Given the description of an element on the screen output the (x, y) to click on. 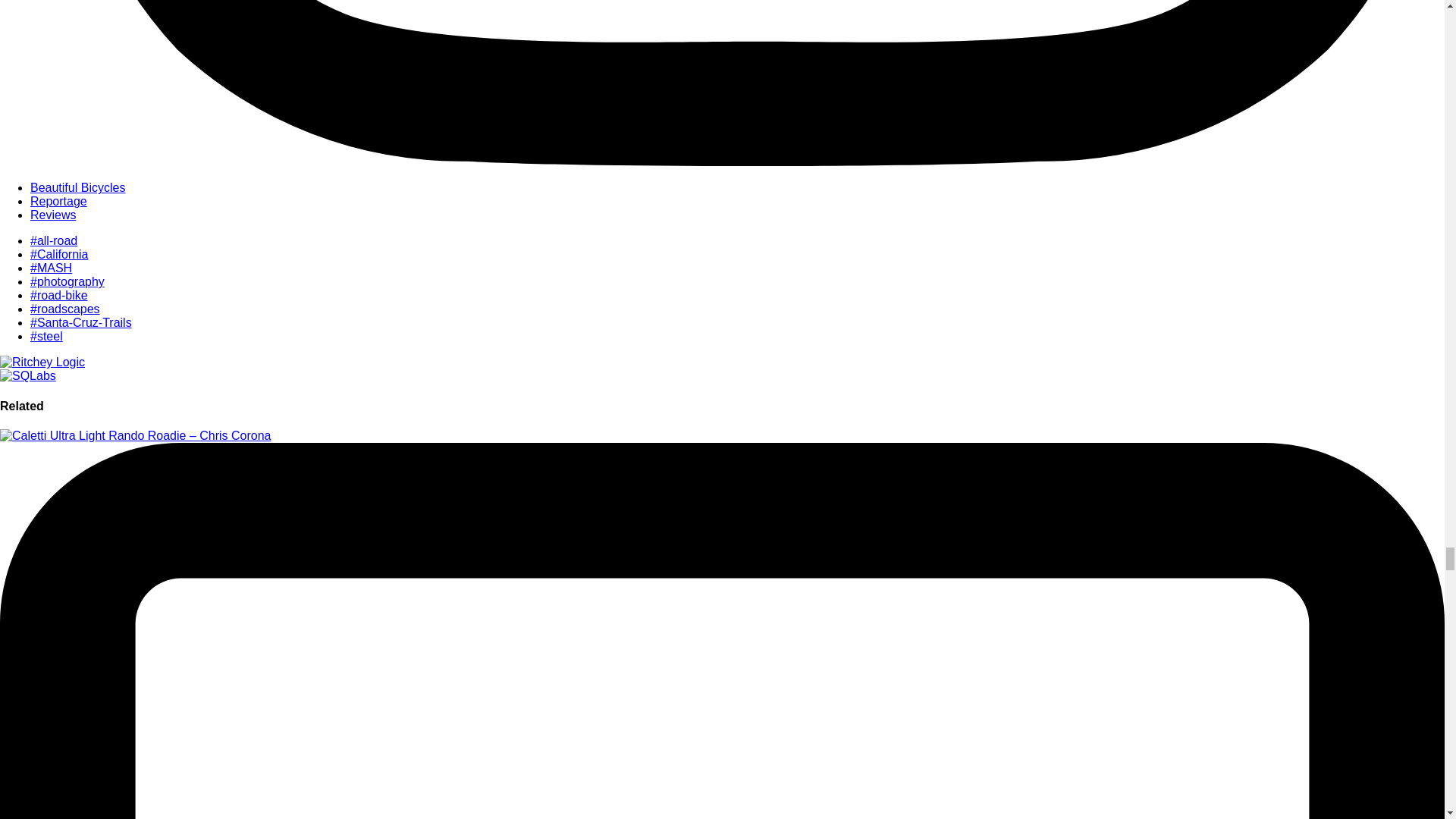
SQLabs (28, 375)
Ritchey Logic (42, 361)
